Given the description of an element on the screen output the (x, y) to click on. 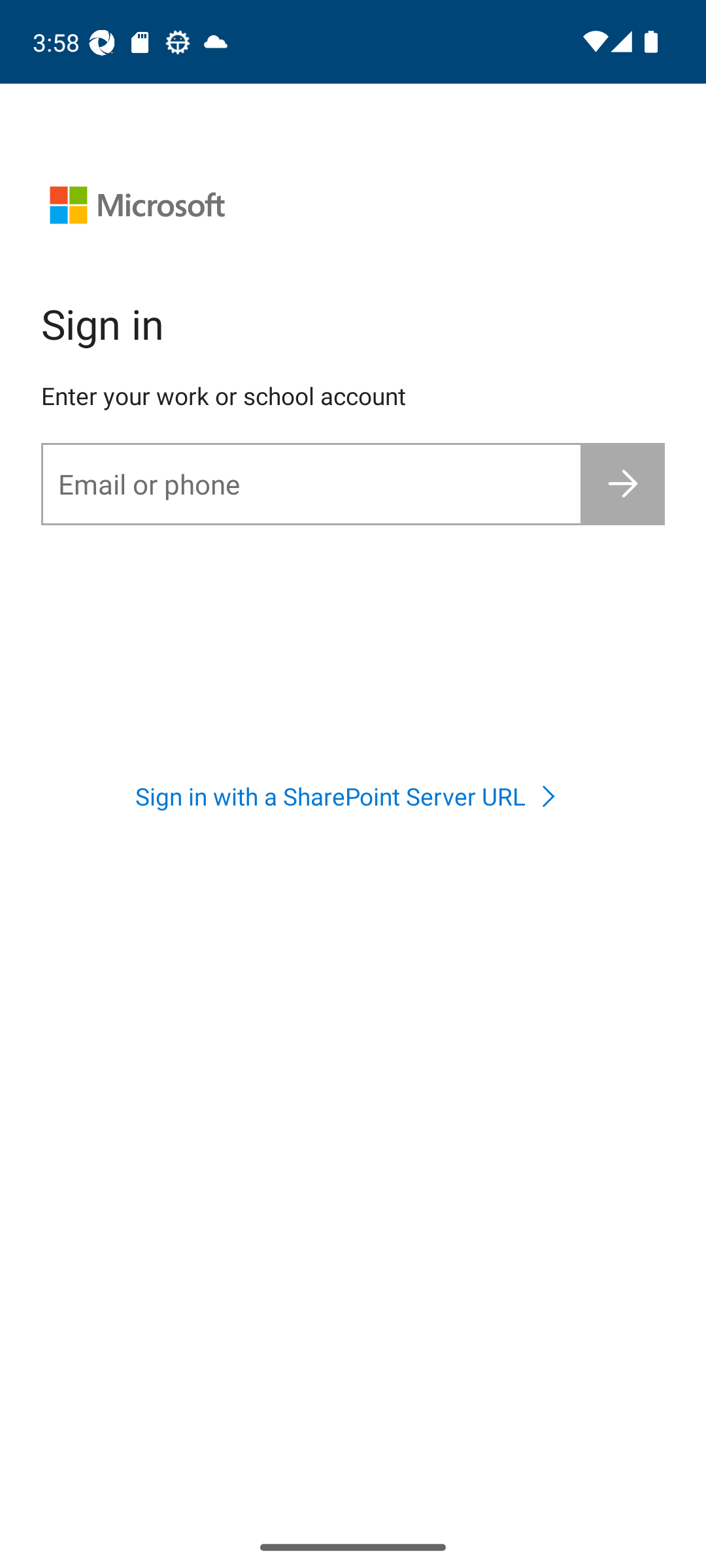
Email or phone (311, 483)
Next (623, 483)
Sign in with a SharePoint Server URL (352, 796)
